Given the description of an element on the screen output the (x, y) to click on. 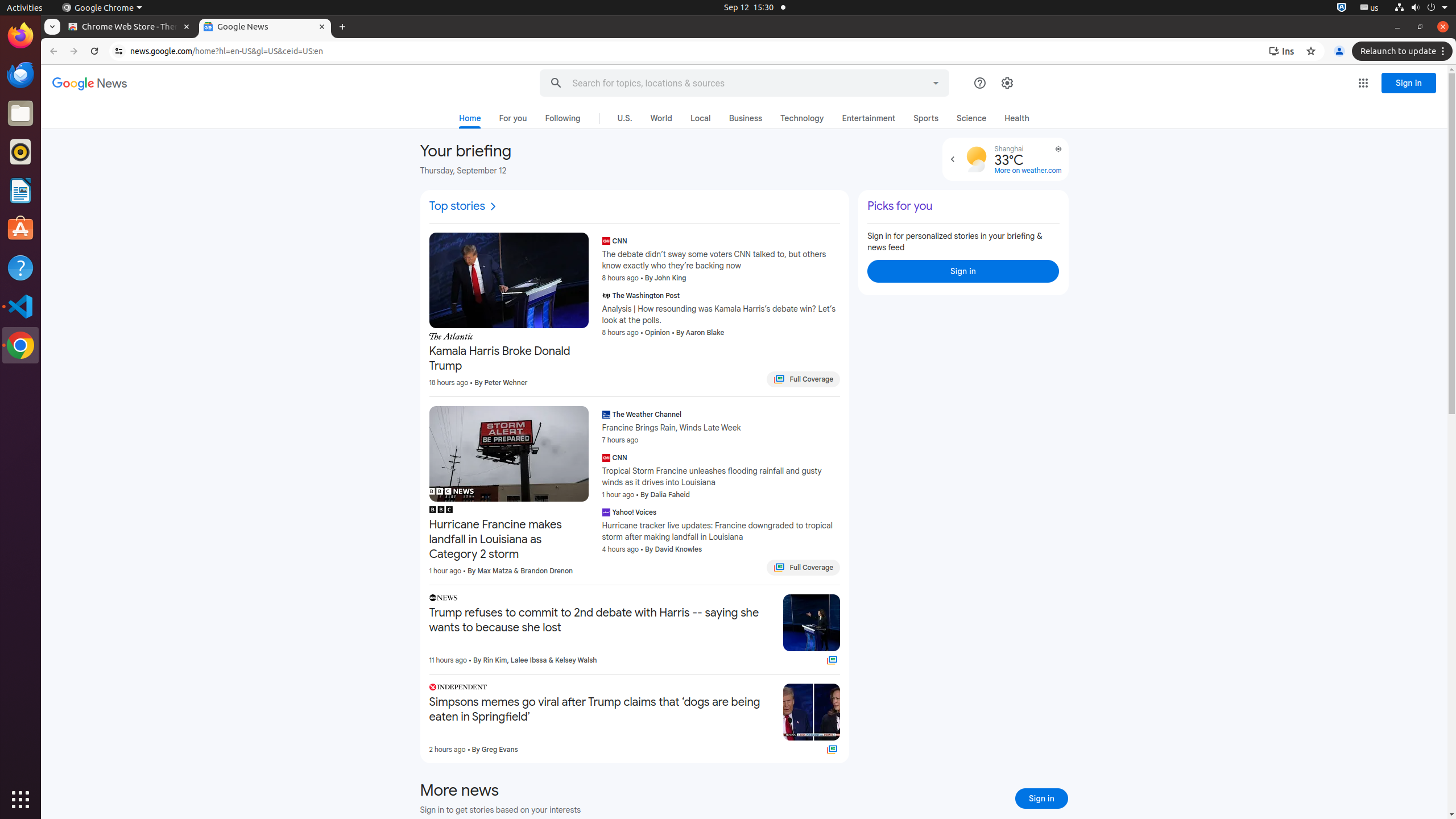
Google Chrome Element type: menu (101, 7)
Show Applications Element type: toggle-button (20, 799)
